Given the description of an element on the screen output the (x, y) to click on. 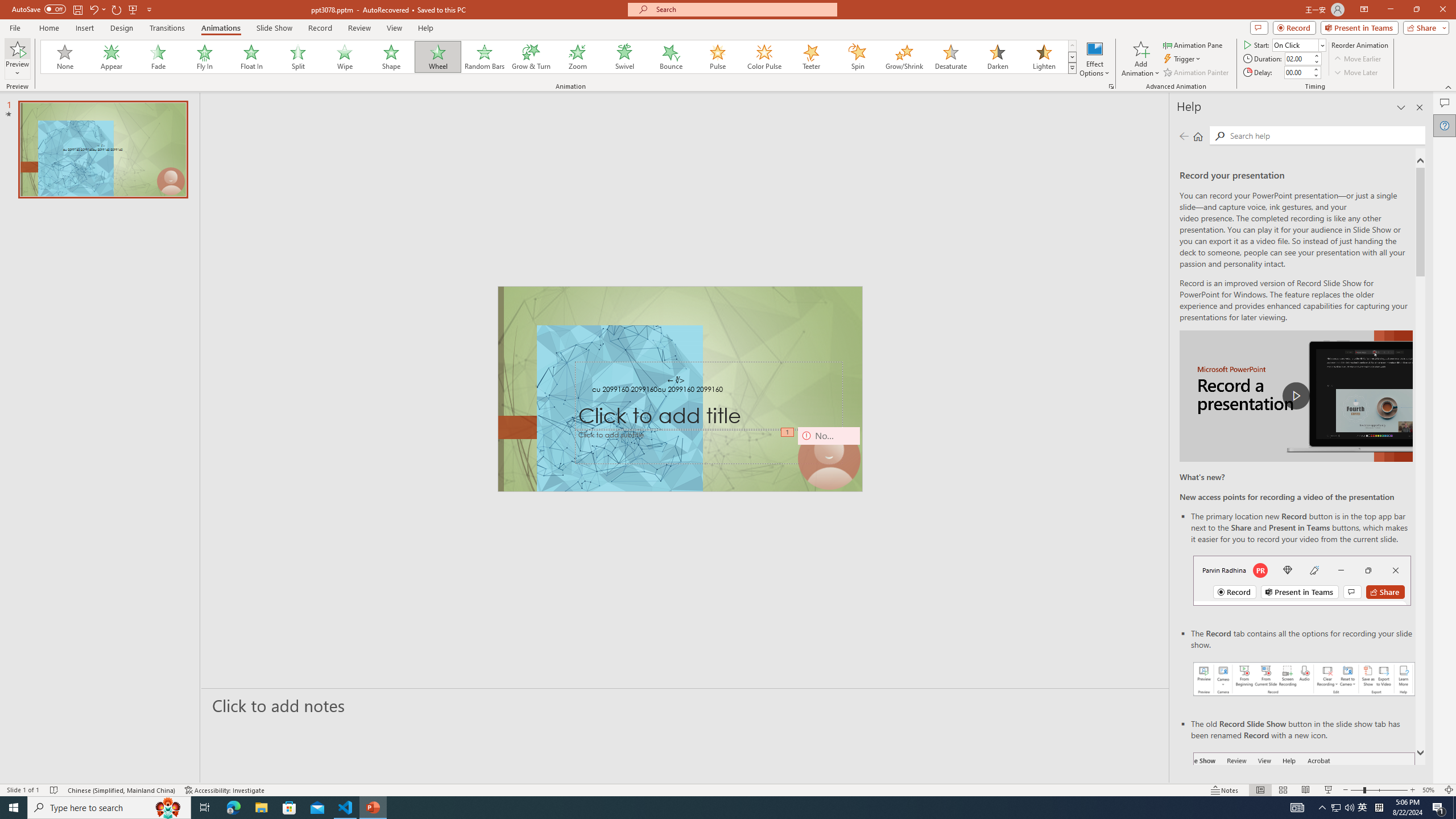
Grow/Shrink (903, 56)
Float In (251, 56)
More Options... (1110, 85)
Random Bars (484, 56)
Subtitle TextBox (709, 446)
